Given the description of an element on the screen output the (x, y) to click on. 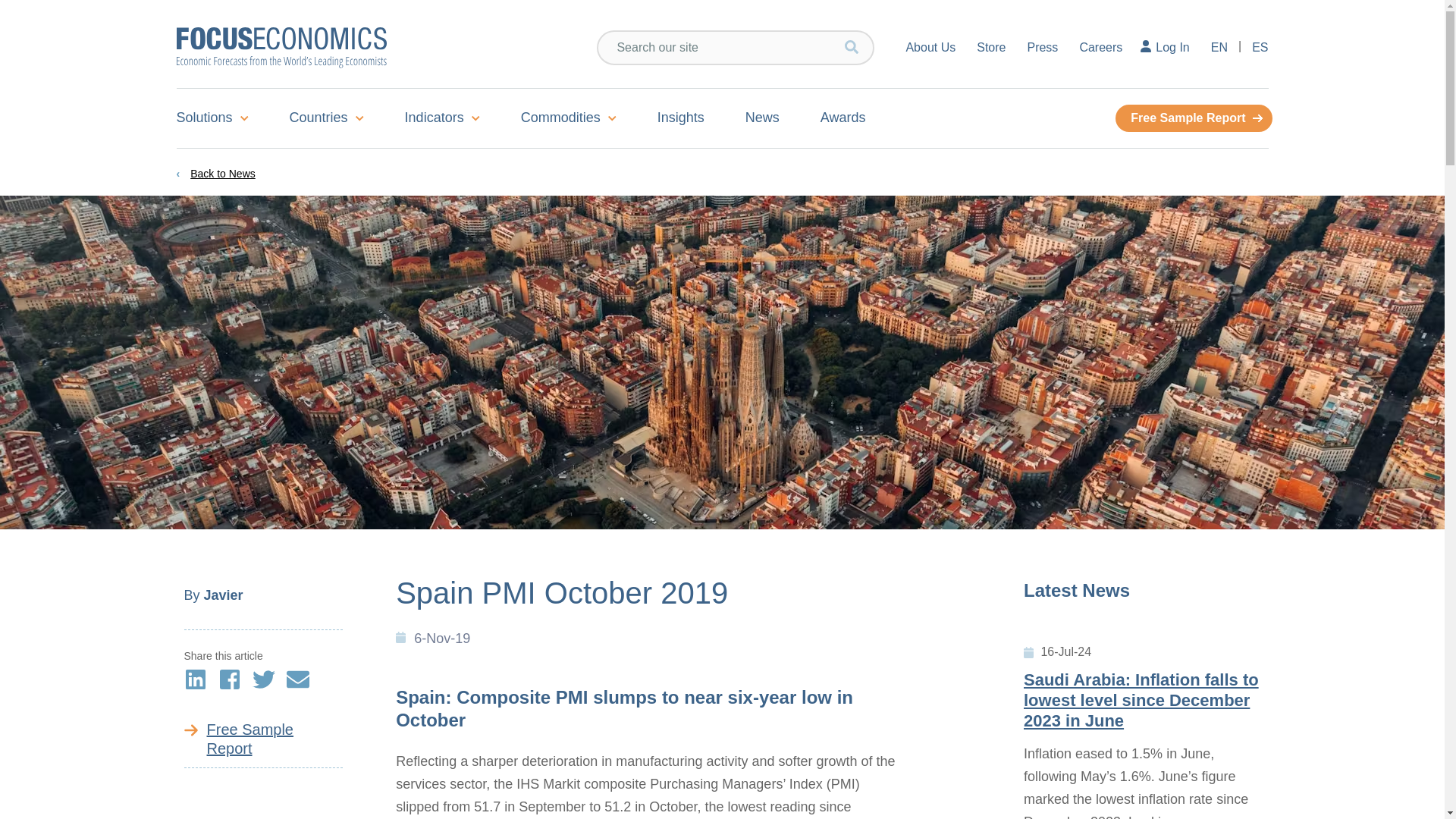
Solutions (221, 118)
Press (1042, 47)
About Us (920, 47)
EN (1219, 47)
Careers (1100, 47)
Countries (326, 118)
ES (1254, 47)
Log In (1165, 47)
Solutions (221, 118)
Store (991, 47)
Countries (326, 118)
